Given the description of an element on the screen output the (x, y) to click on. 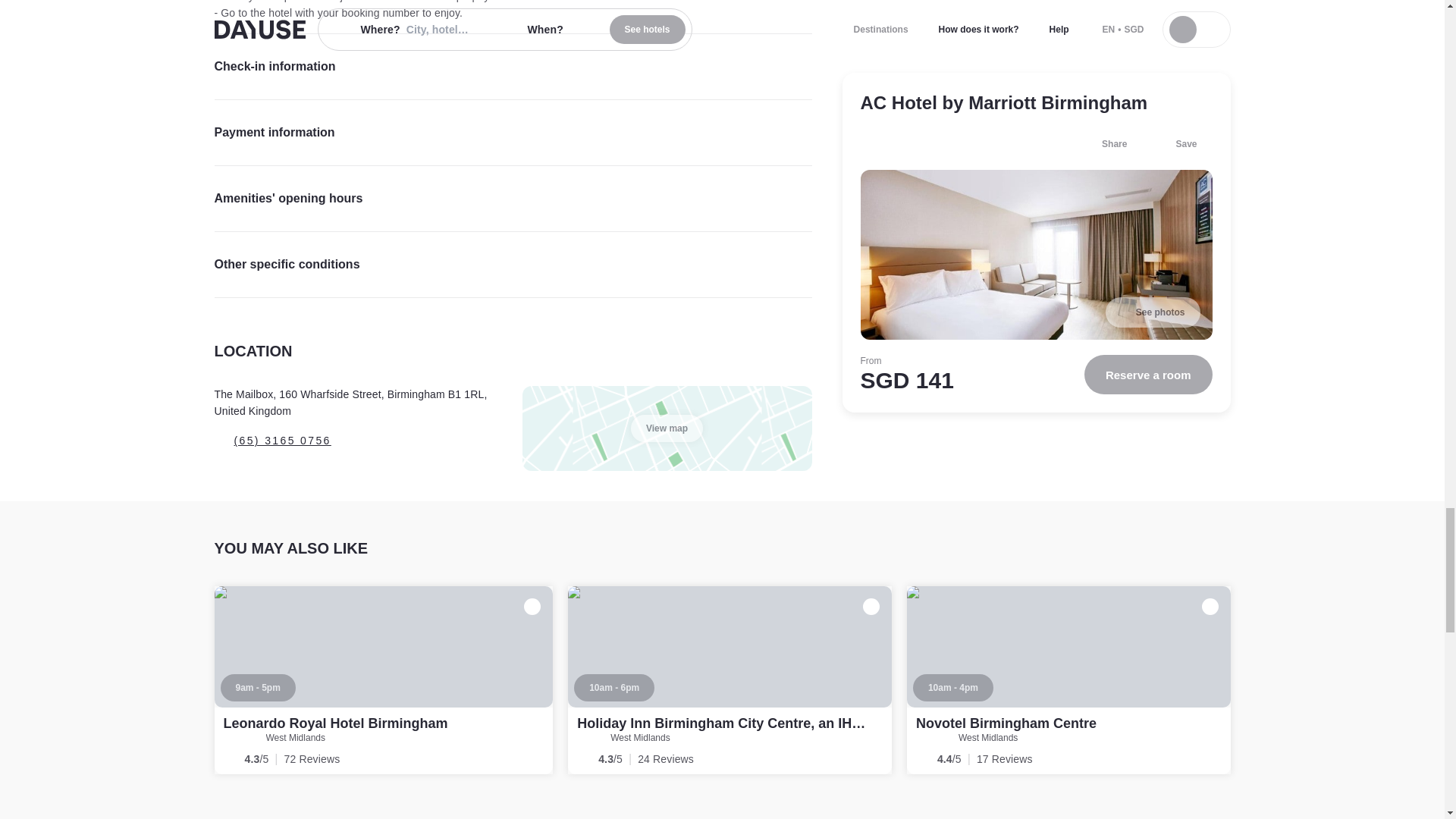
Holiday Inn Birmingham City Centre, an IHG Hotel (737, 723)
Novotel Birmingham Centre (1005, 723)
Novotel Birmingham Centre (1068, 679)
Leonardo Royal Hotel Birmingham (334, 723)
Holiday Inn Birmingham City Centre, an IHG Hotel (729, 679)
Leonardo Royal Hotel Birmingham (383, 679)
